Given the description of an element on the screen output the (x, y) to click on. 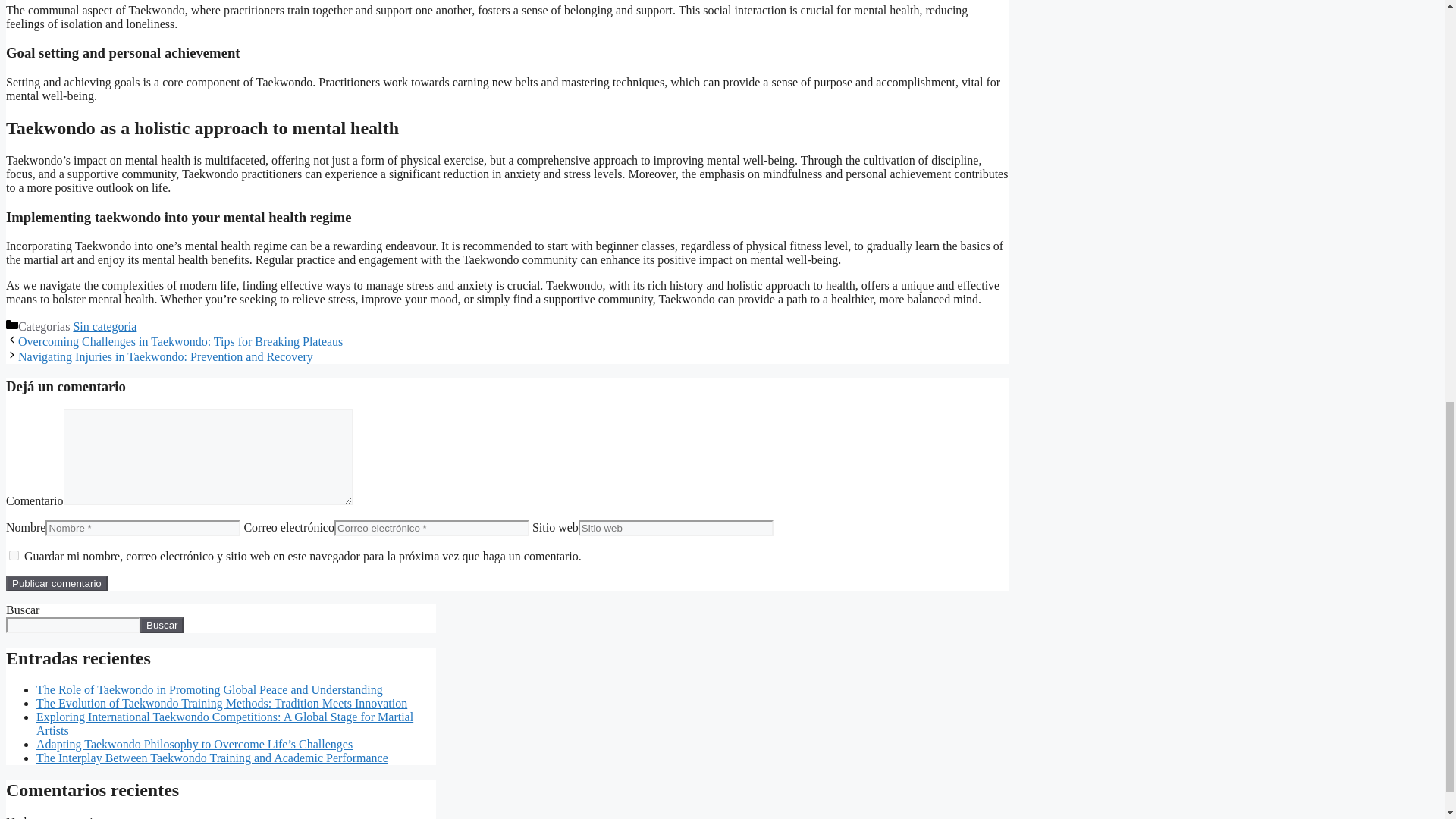
Publicar comentario (56, 583)
Publicar comentario (56, 583)
Navigating Injuries in Taekwondo: Prevention and Recovery (165, 356)
yes (13, 555)
Buscar (161, 625)
